Given the description of an element on the screen output the (x, y) to click on. 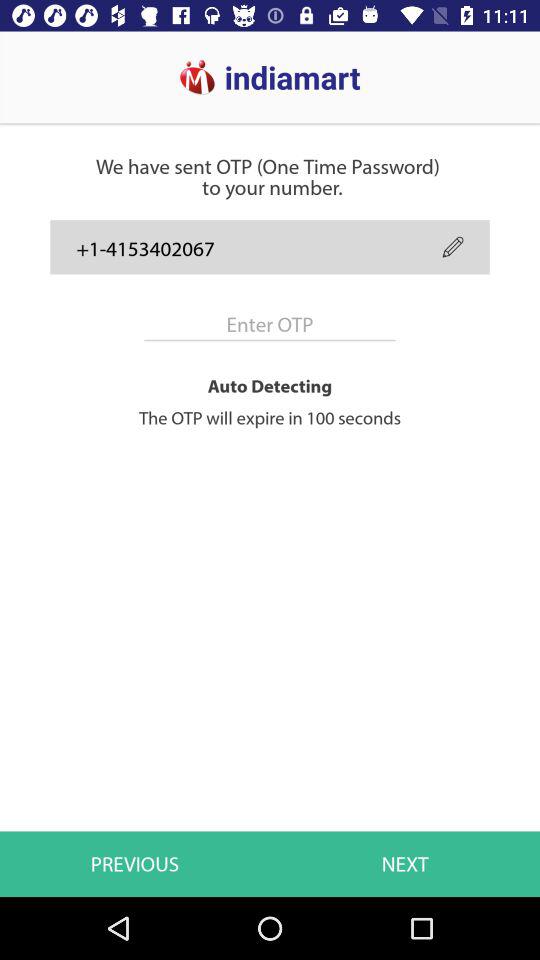
make change (452, 246)
